Given the description of an element on the screen output the (x, y) to click on. 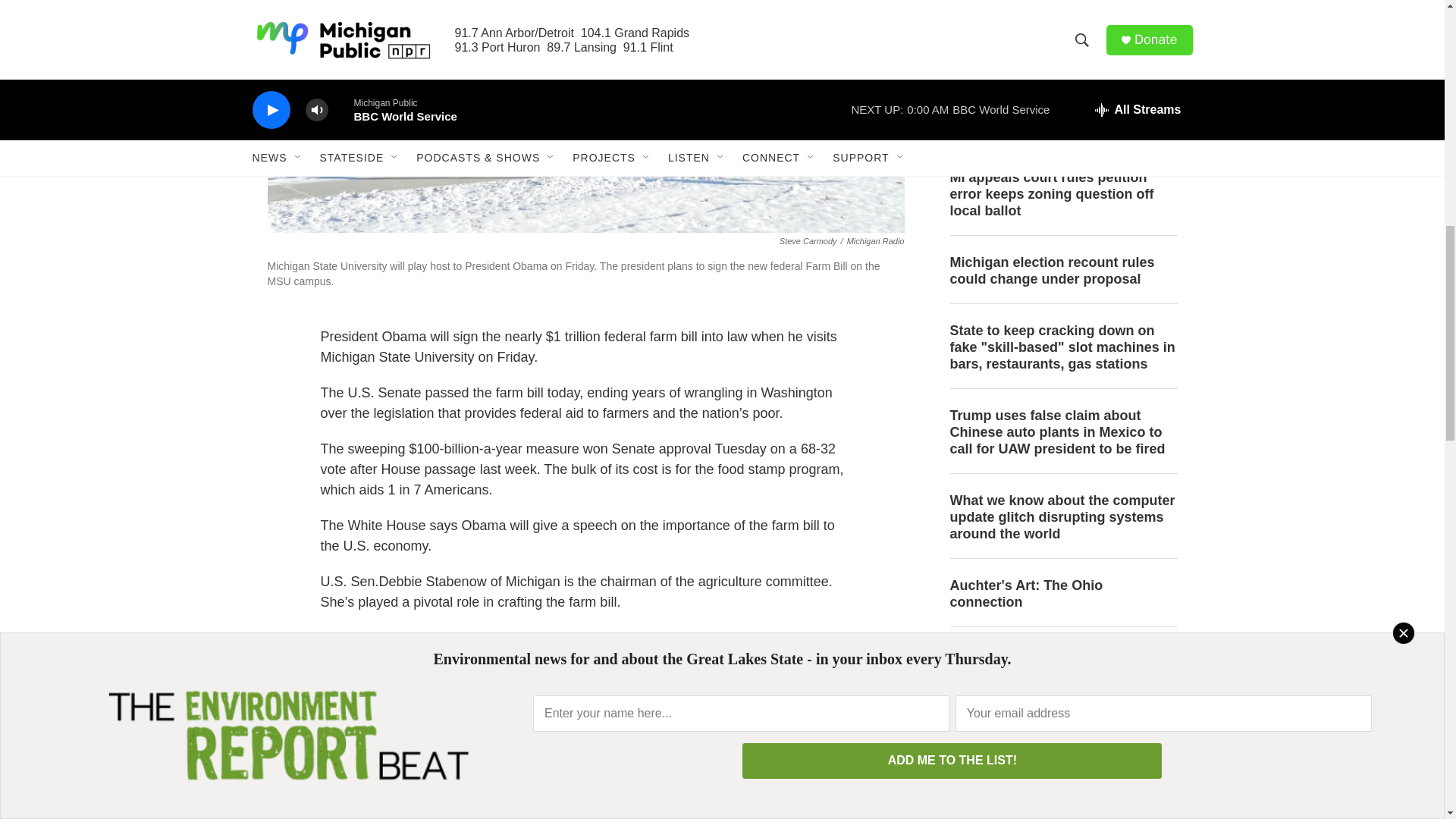
3rd party ad content (1062, 738)
3rd party ad content (1062, 42)
